Given the description of an element on the screen output the (x, y) to click on. 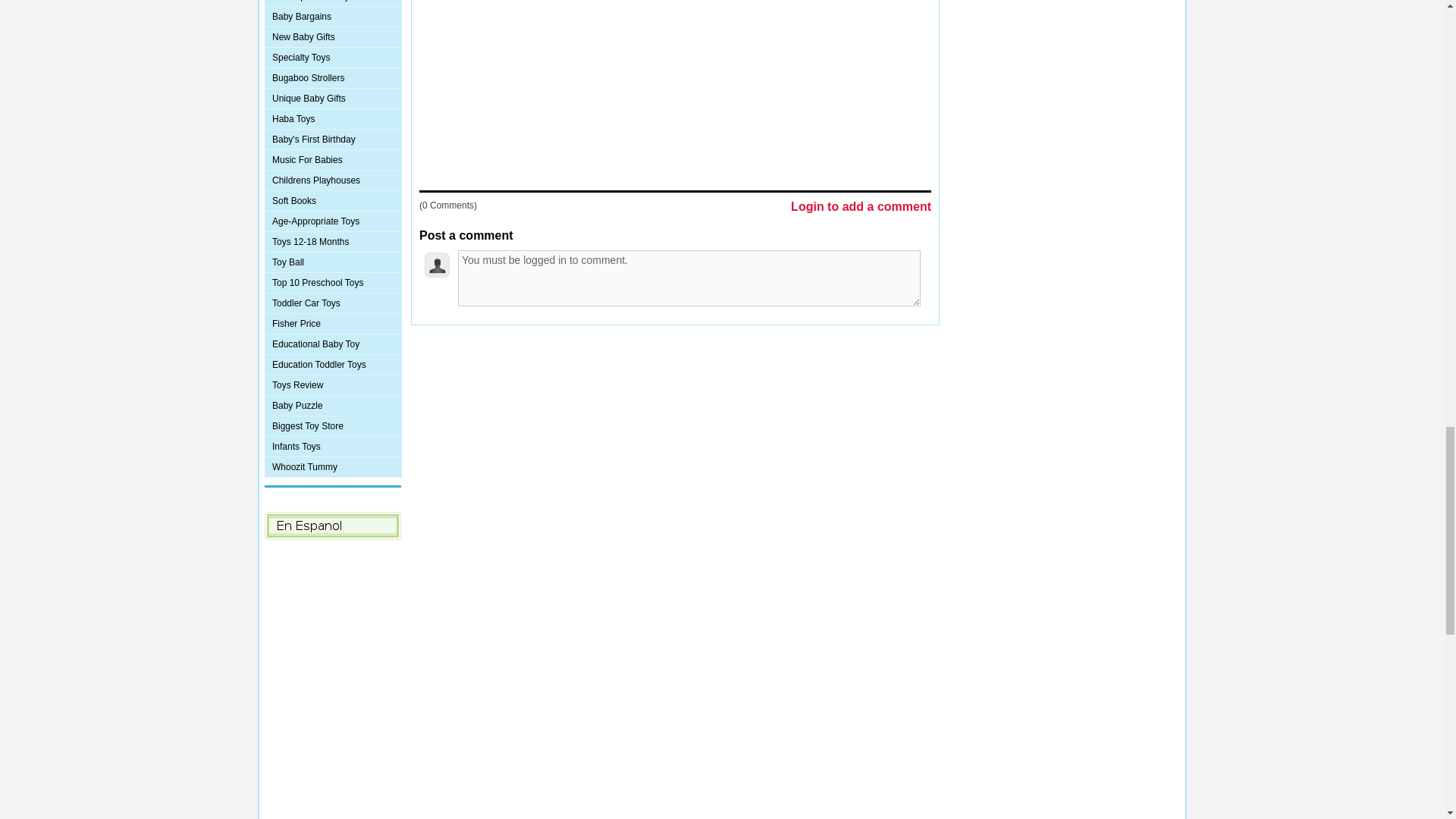
Login to add a comment (860, 207)
3rd party ad content (675, 89)
LOG IN (600, 355)
